Given the description of an element on the screen output the (x, y) to click on. 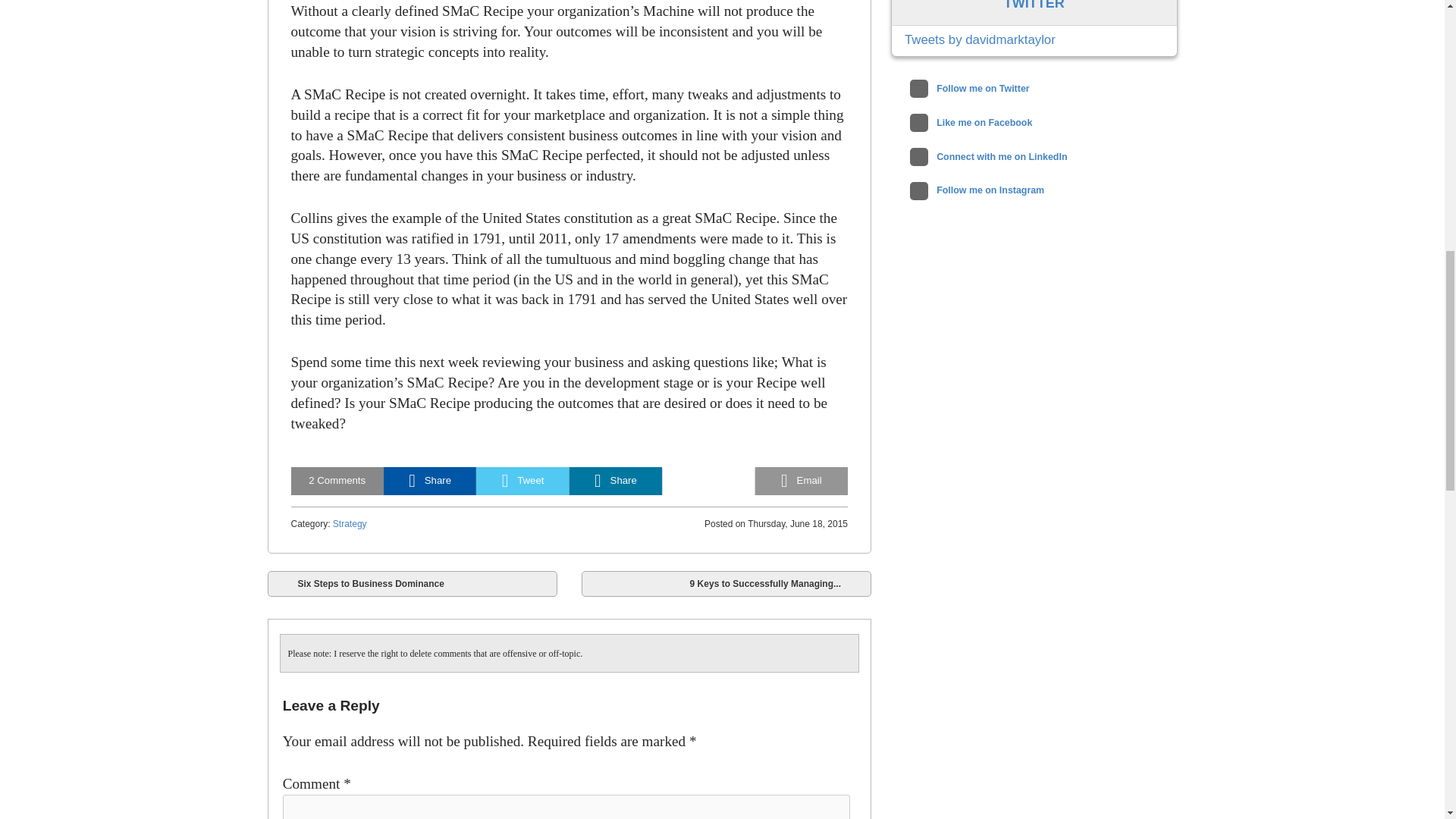
Share on Facebook (430, 480)
Strategy (349, 523)
Email (801, 480)
Comment on this Post (337, 480)
Share (430, 480)
Share on LinkedIn (615, 480)
Tweet this Post (522, 480)
Tweet (522, 480)
2 Comments (337, 480)
Share (615, 480)
